Given the description of an element on the screen output the (x, y) to click on. 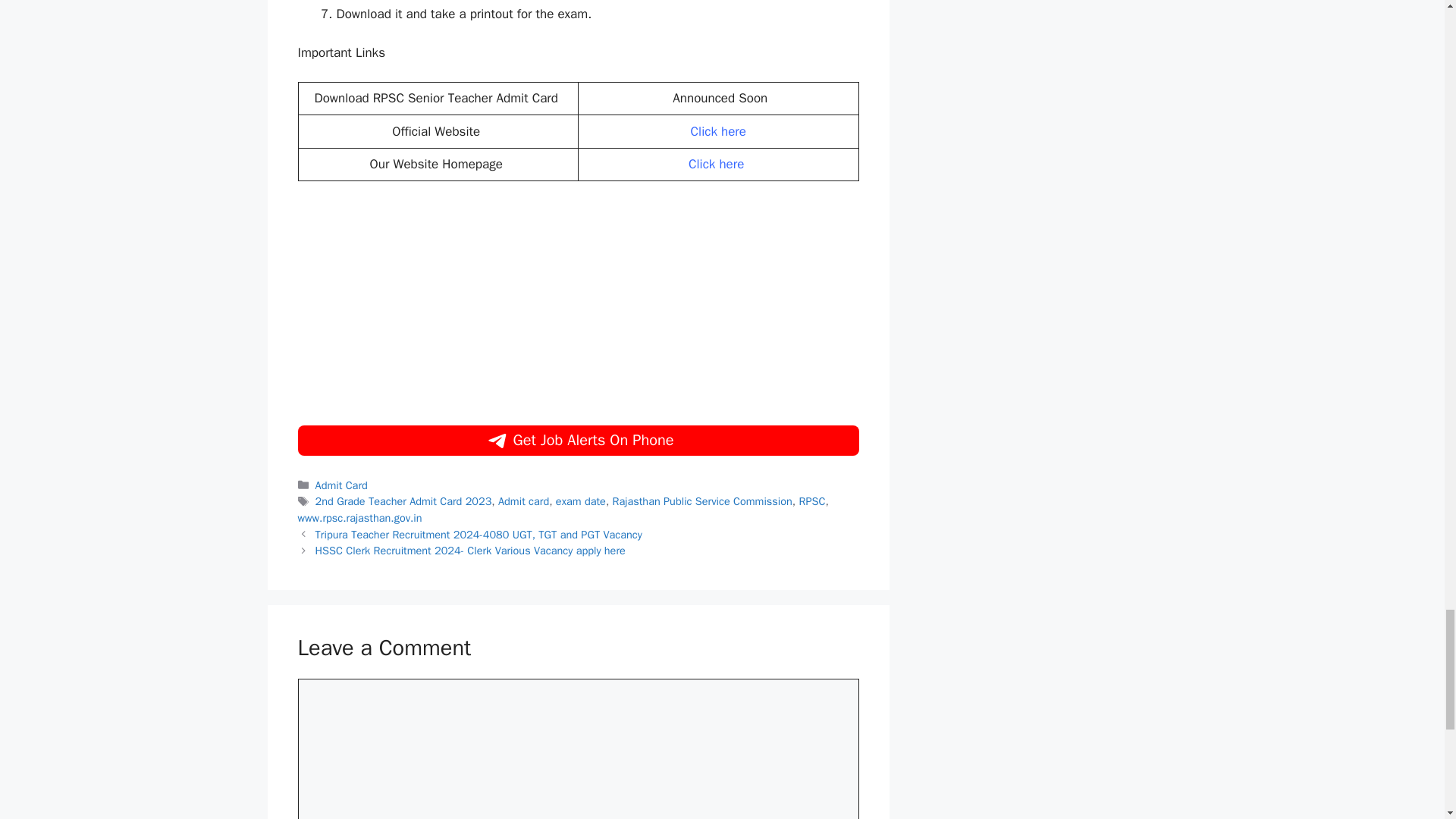
Click here  (718, 163)
2nd Grade Teacher Admit Card 2023 (403, 500)
RPSC (812, 500)
Rajasthan Public Service Commission (702, 500)
www.rpsc.rajasthan.gov.in (359, 517)
Admit Card (341, 485)
Get Job Alerts On Phone (578, 440)
exam date (580, 500)
Admit card (522, 500)
Click here  (719, 131)
